Given the description of an element on the screen output the (x, y) to click on. 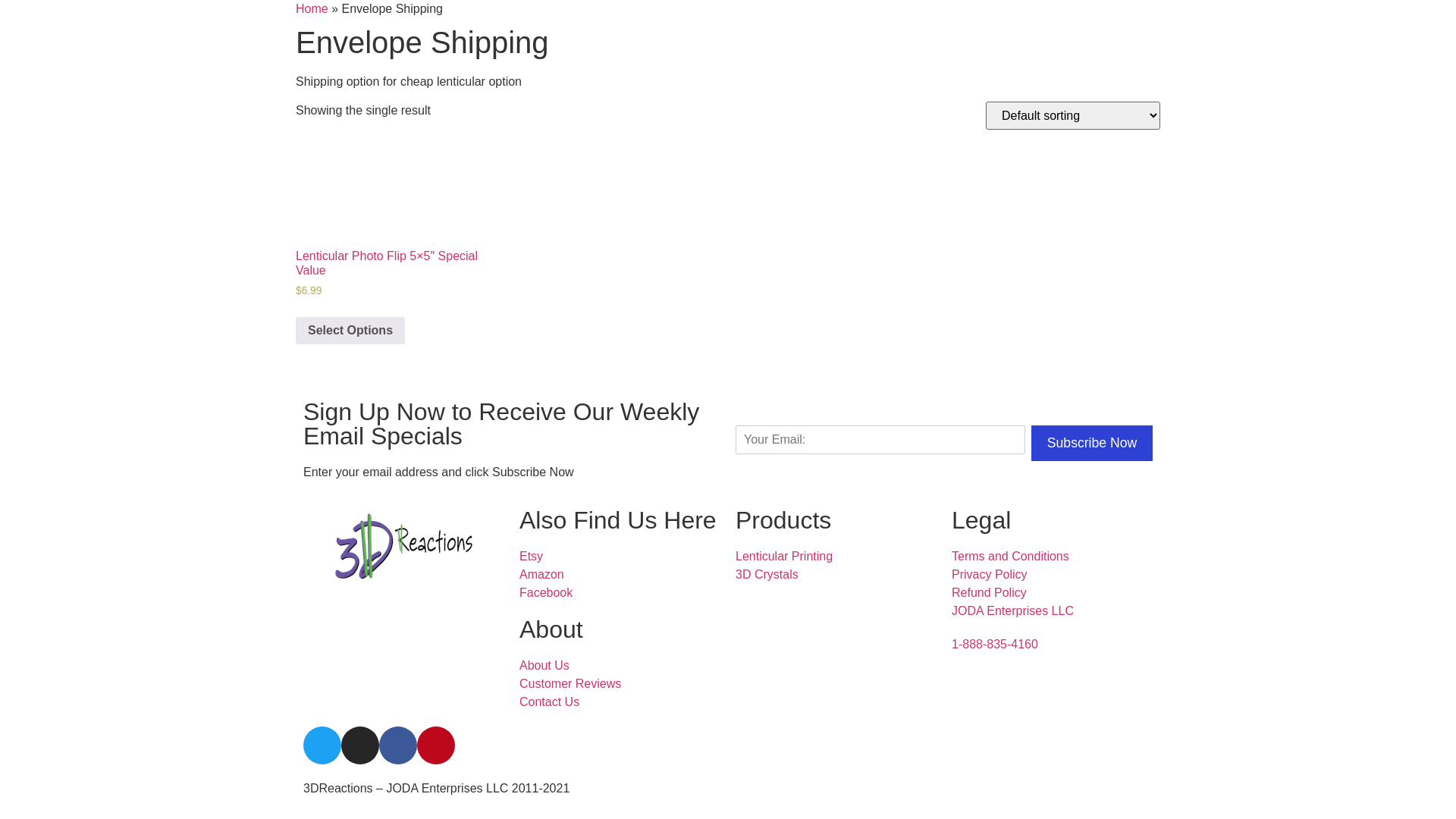
1-888-835-4160 Element type: text (994, 643)
Amazon Element type: text (619, 574)
Subscribe Now Element type: text (1091, 442)
Lenticular Printing Element type: text (835, 556)
Etsy Element type: text (619, 556)
Select Options Element type: text (349, 330)
Home Element type: text (311, 8)
Facebook Element type: text (619, 592)
3D Crystals Element type: text (835, 574)
Refund Policy Element type: text (1051, 592)
Contact Us Element type: text (619, 702)
JODA Enterprises LLC Element type: text (1051, 611)
Terms and Conditions Element type: text (1051, 556)
Customer Reviews Element type: text (619, 683)
Privacy Policy Element type: text (1051, 574)
About Us Element type: text (619, 665)
